Given the description of an element on the screen output the (x, y) to click on. 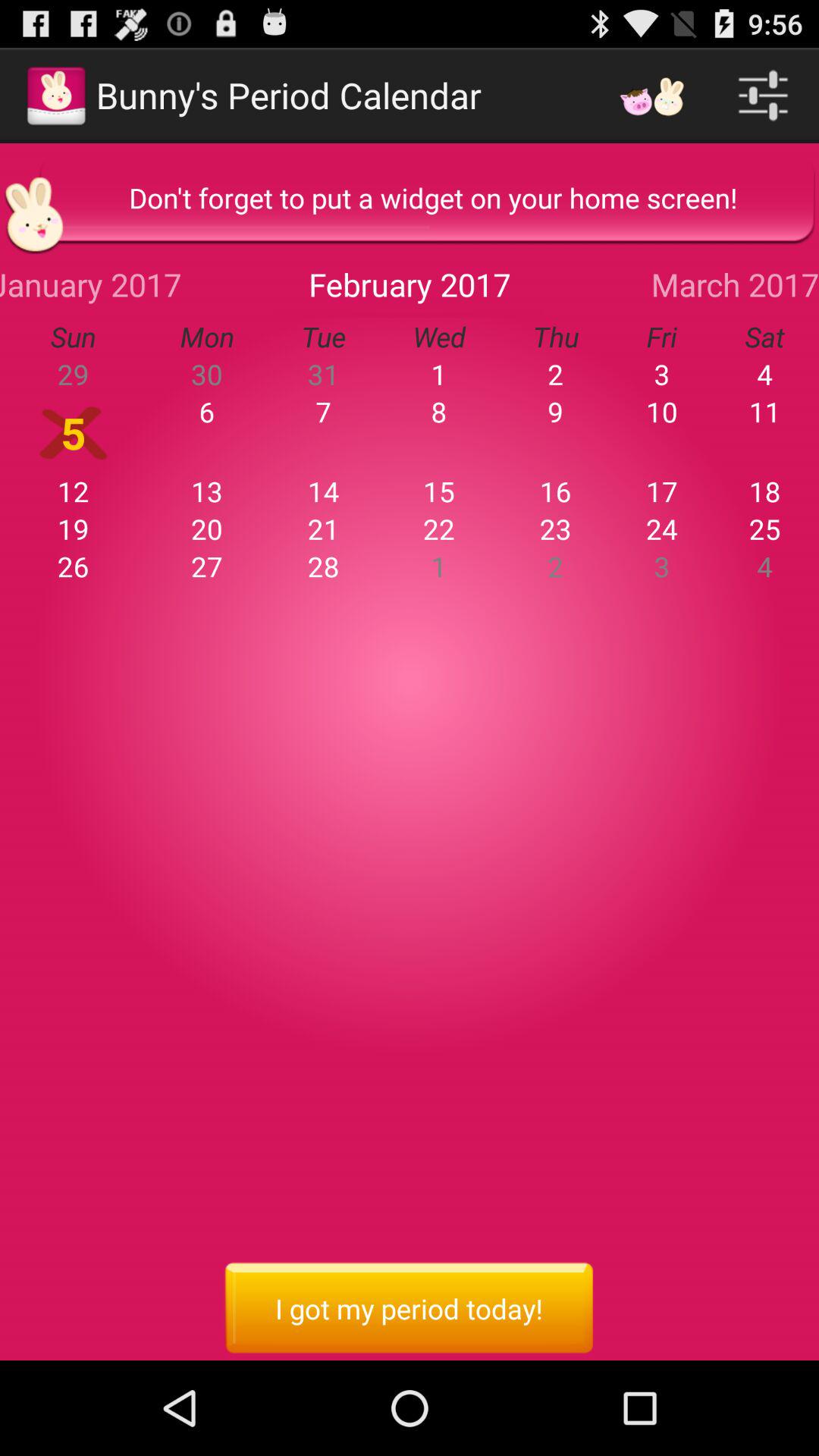
launch the 27 (206, 566)
